Given the description of an element on the screen output the (x, y) to click on. 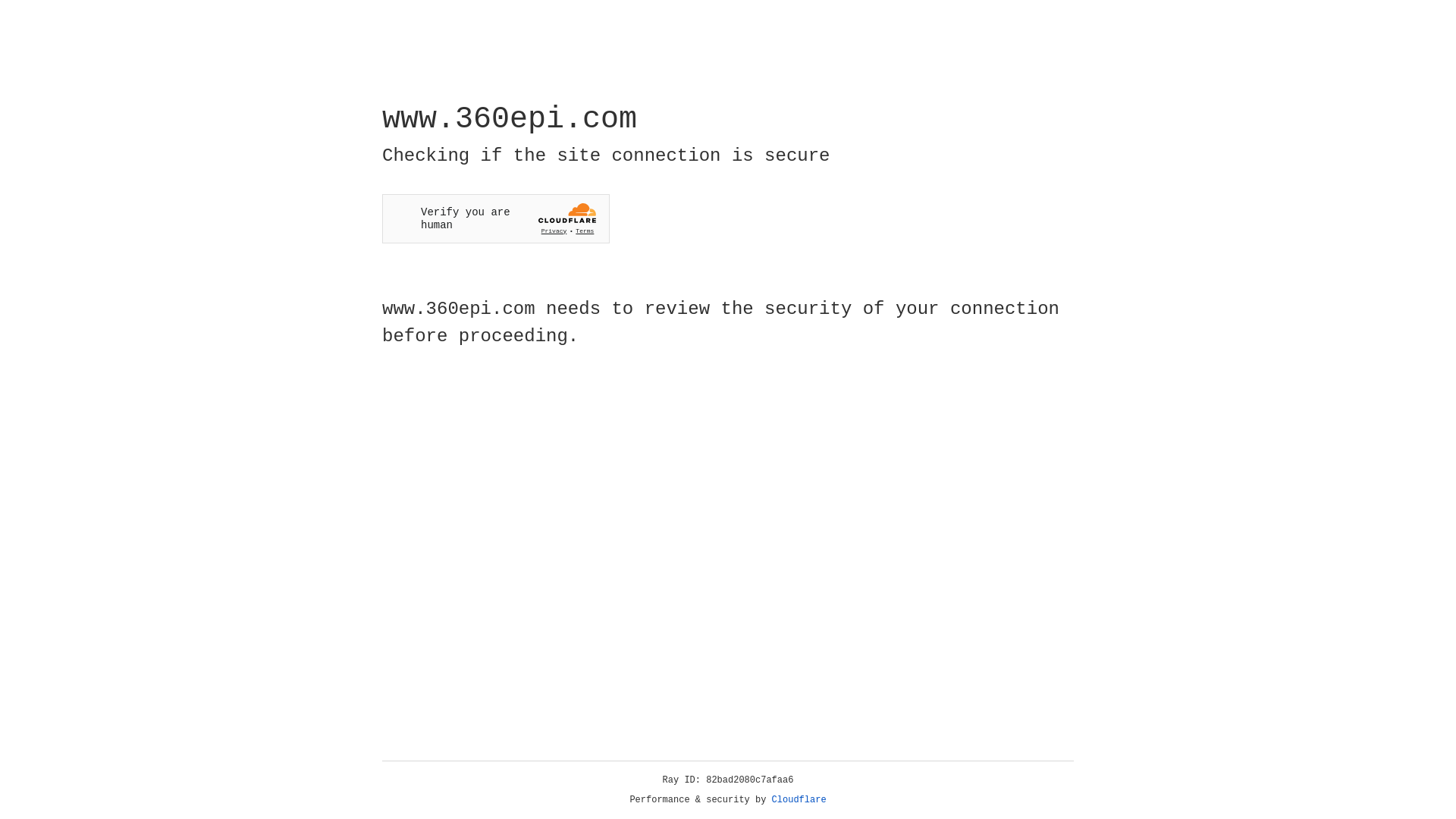
Cloudflare Element type: text (798, 799)
Widget containing a Cloudflare security challenge Element type: hover (495, 218)
